Given the description of an element on the screen output the (x, y) to click on. 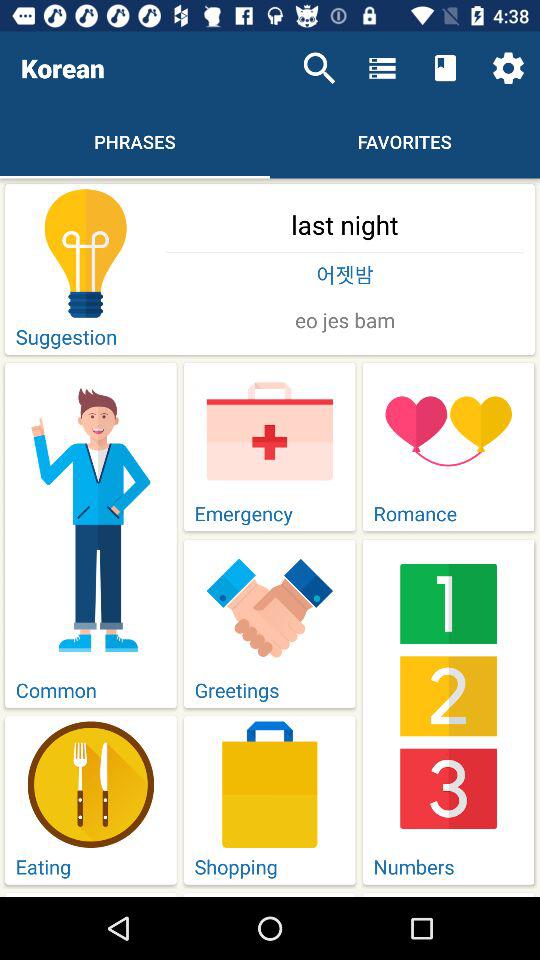
open item above the favorites item (381, 67)
